Given the description of an element on the screen output the (x, y) to click on. 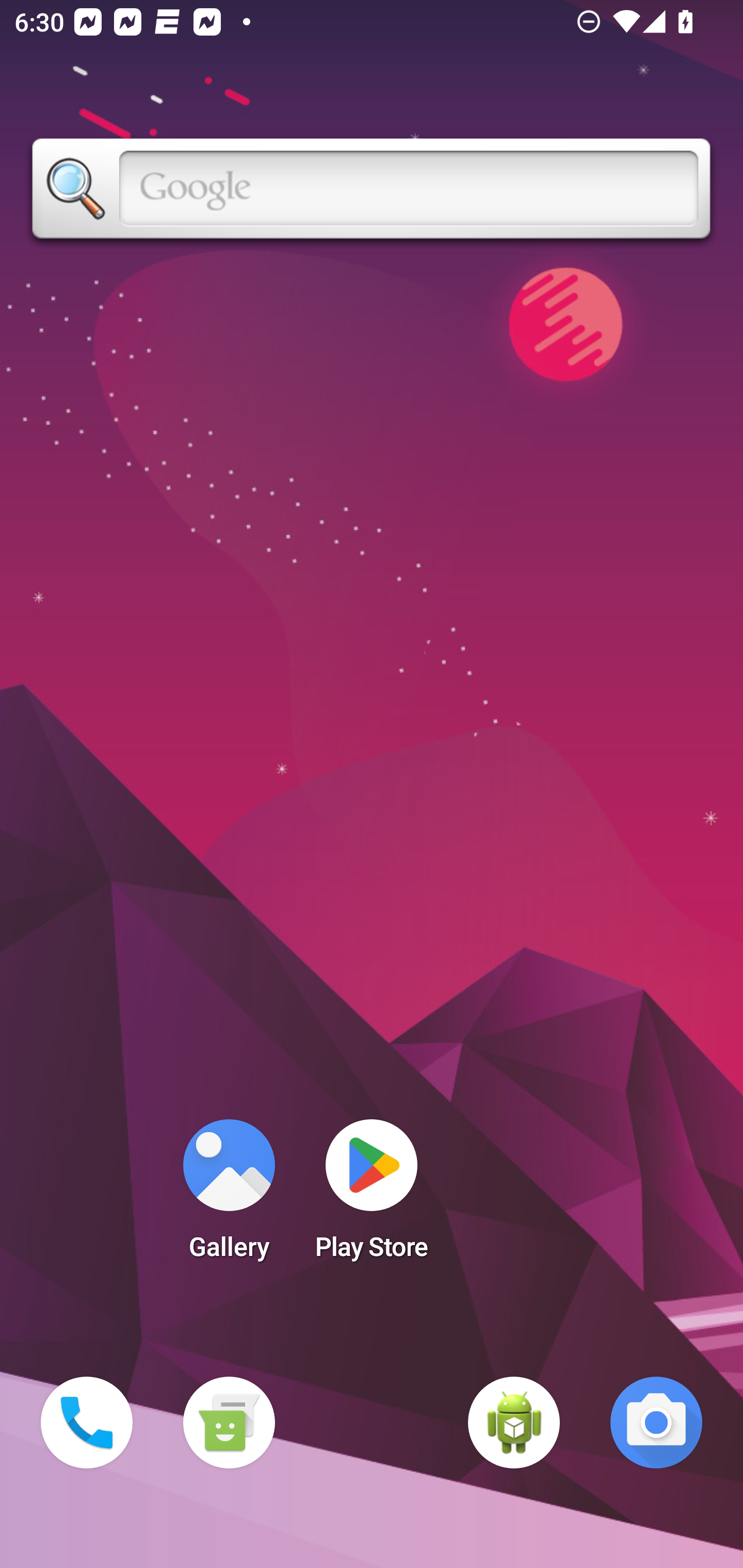
Gallery (228, 1195)
Play Store (371, 1195)
Phone (86, 1422)
Messaging (228, 1422)
WebView Browser Tester (513, 1422)
Camera (656, 1422)
